Given the description of an element on the screen output the (x, y) to click on. 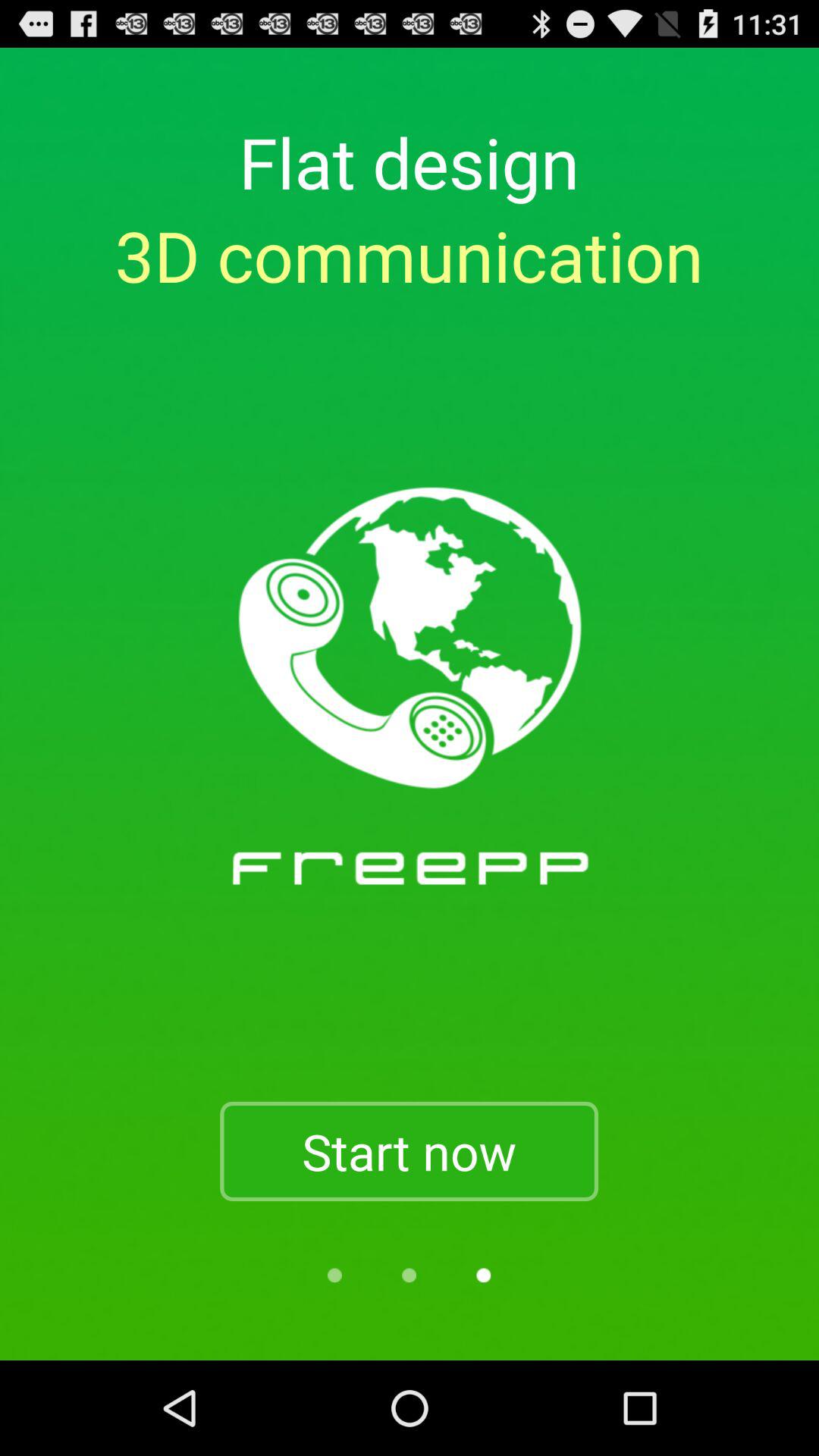
jump until the start now item (409, 1151)
